Given the description of an element on the screen output the (x, y) to click on. 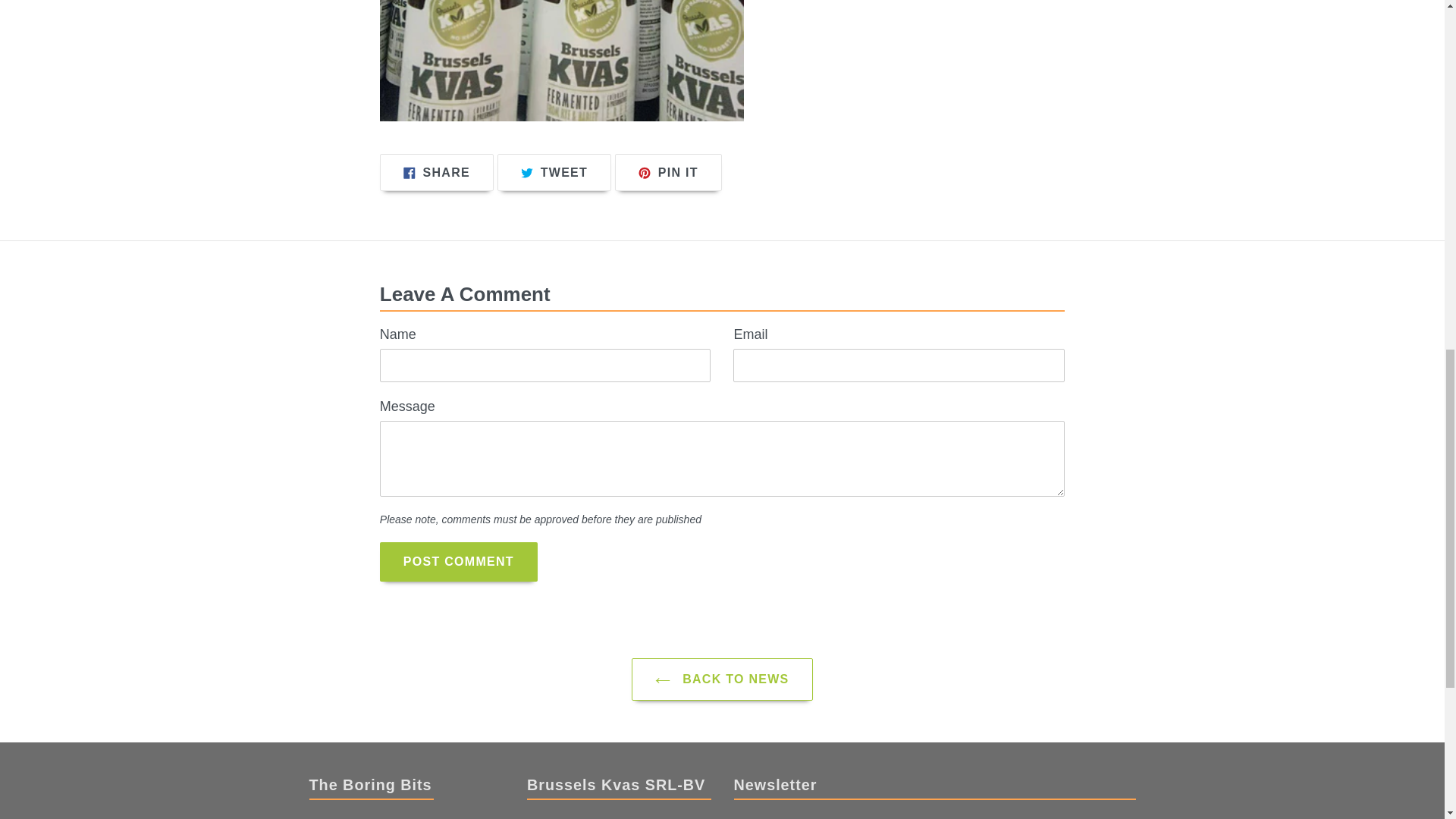
BACK TO NEWS (721, 679)
Post comment (554, 171)
Post comment (436, 171)
